Given the description of an element on the screen output the (x, y) to click on. 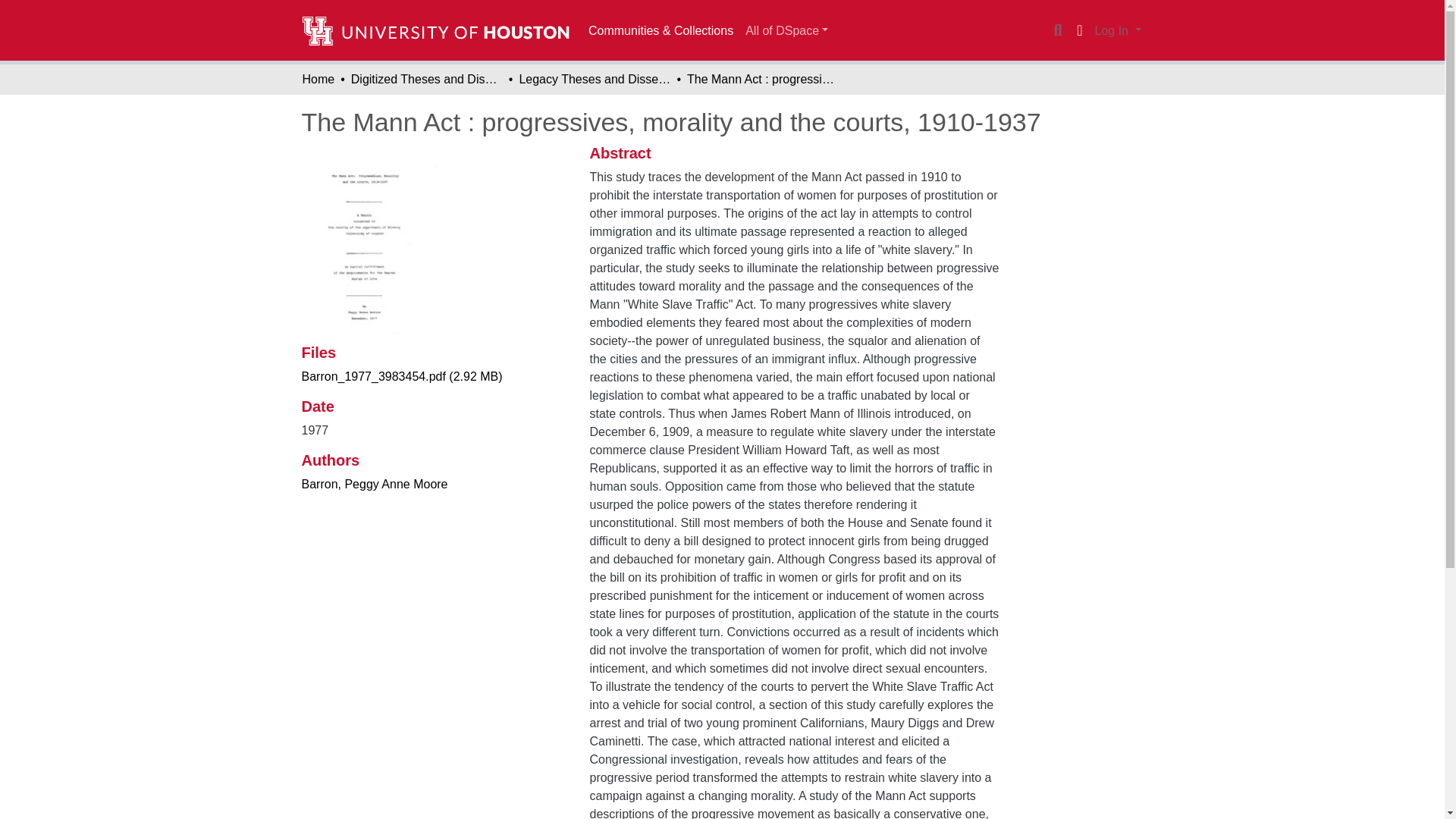
Log In (1117, 30)
Home (317, 79)
Language switch (1079, 30)
All of DSpace (786, 30)
Search (1057, 30)
Barron, Peggy Anne Moore (374, 483)
